Given the description of an element on the screen output the (x, y) to click on. 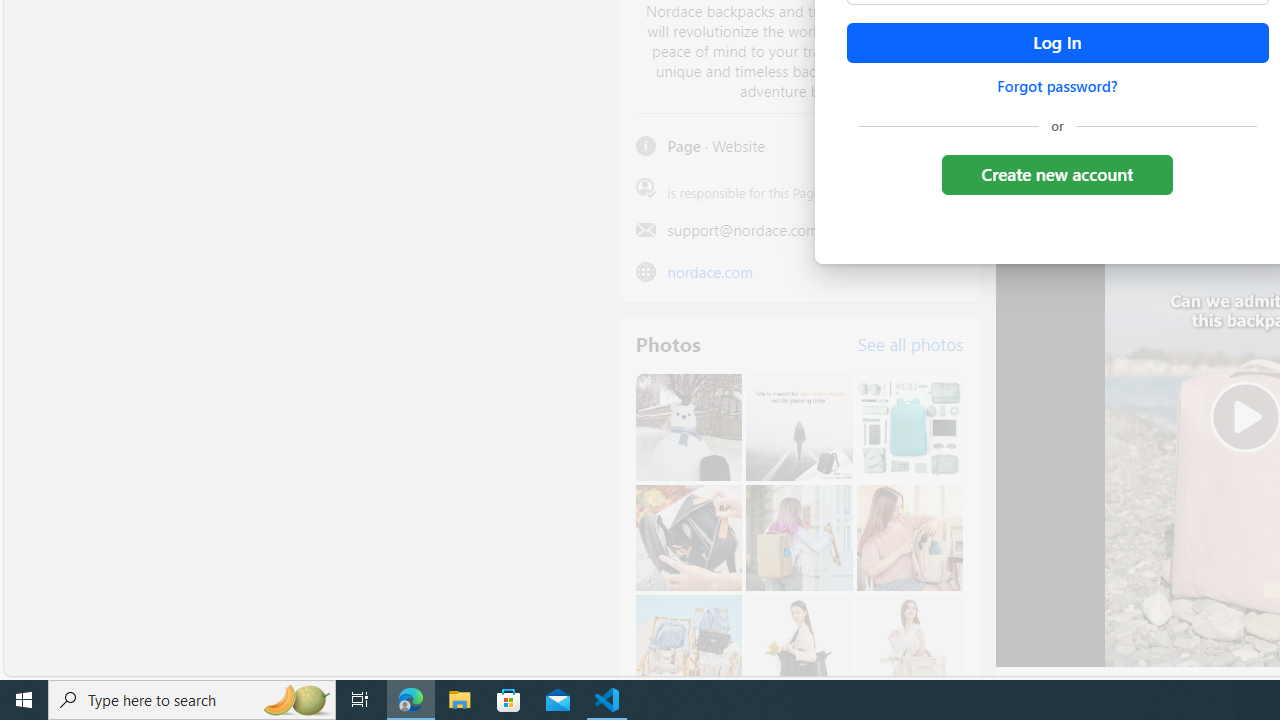
Accessible login button (1057, 43)
Create new account (1056, 174)
Forgot password? (1057, 85)
